Given the description of an element on the screen output the (x, y) to click on. 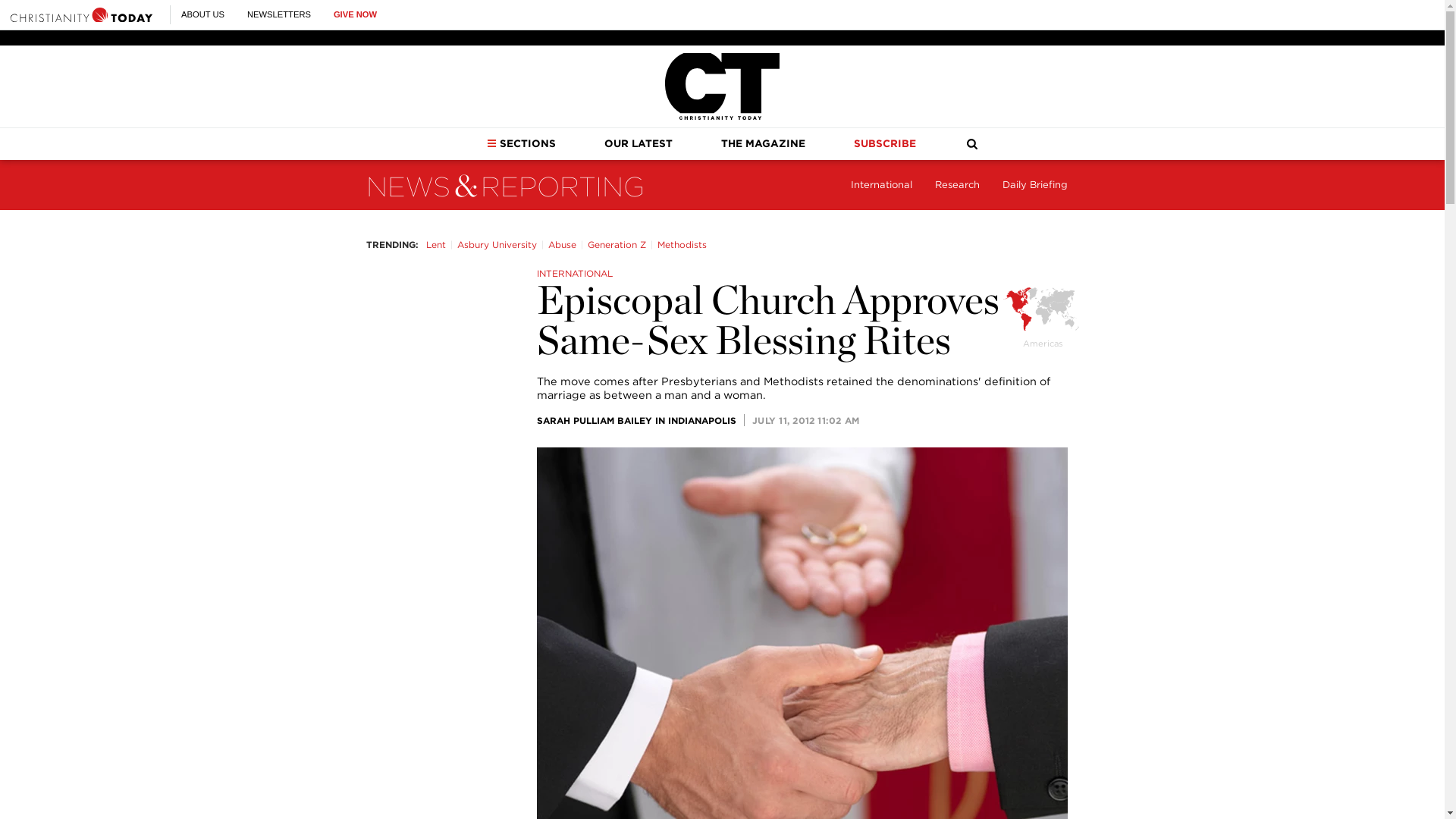
NEWSLETTERS (278, 14)
Christianity Today (721, 86)
GIVE NOW (355, 14)
Sections Dropdown (491, 143)
Christianity Today (81, 14)
ABOUT US (202, 14)
SECTIONS (521, 143)
